Given the description of an element on the screen output the (x, y) to click on. 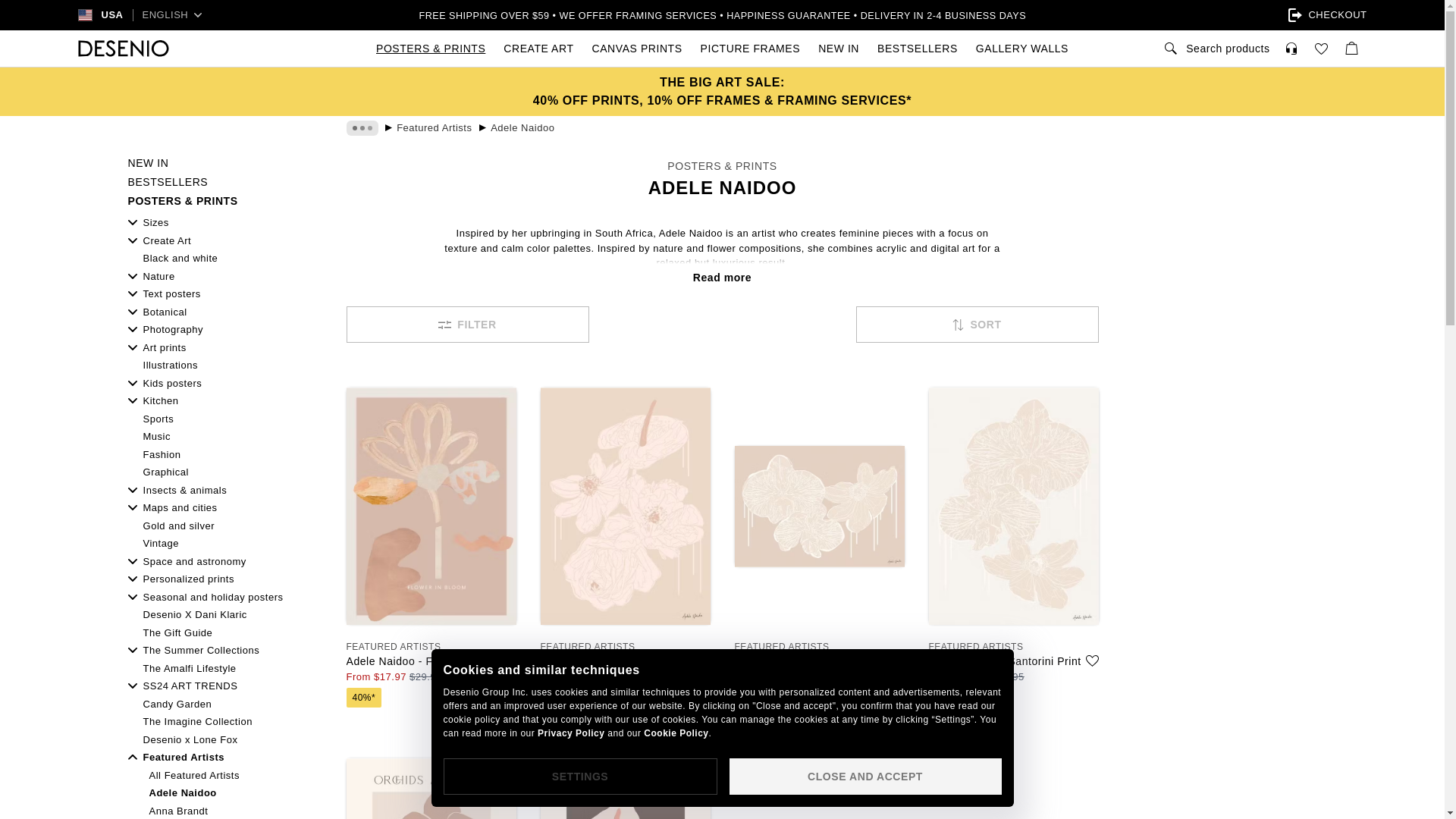
NEW IN (224, 163)
Search products (1215, 48)
Kitchen (224, 400)
GALLERY WALLS (1021, 48)
BESTSELLERS (916, 48)
Privacy Policy (570, 733)
Sizes (224, 222)
Sports (224, 418)
United States (112, 14)
USA (100, 15)
Photography (224, 329)
Text posters (224, 294)
SETTINGS (579, 776)
CANVAS PRINTS (637, 48)
BESTSELLERS (224, 182)
